Given the description of an element on the screen output the (x, y) to click on. 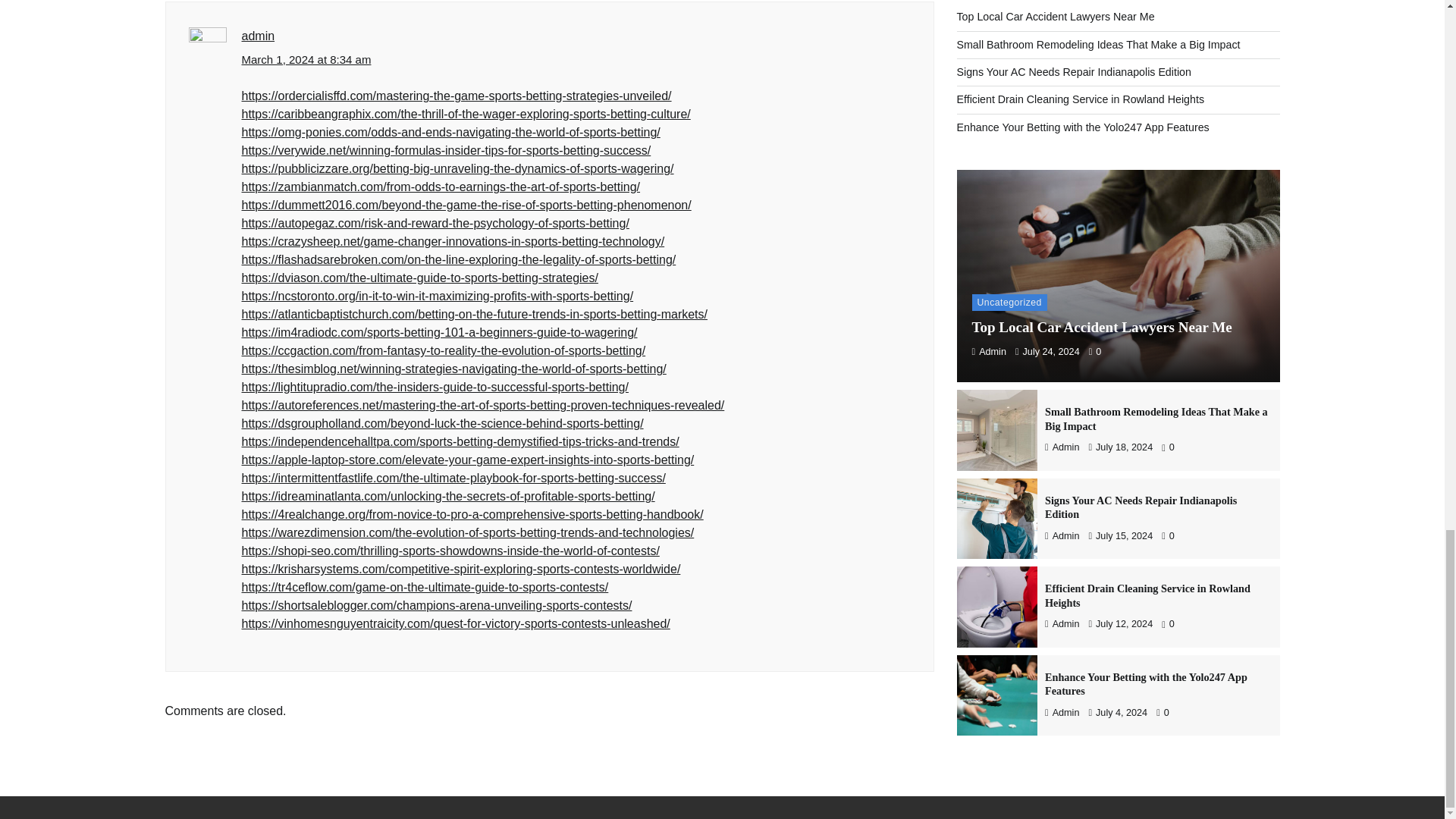
March 1, 2024 at 8:34 am (306, 59)
admin (258, 35)
